Given the description of an element on the screen output the (x, y) to click on. 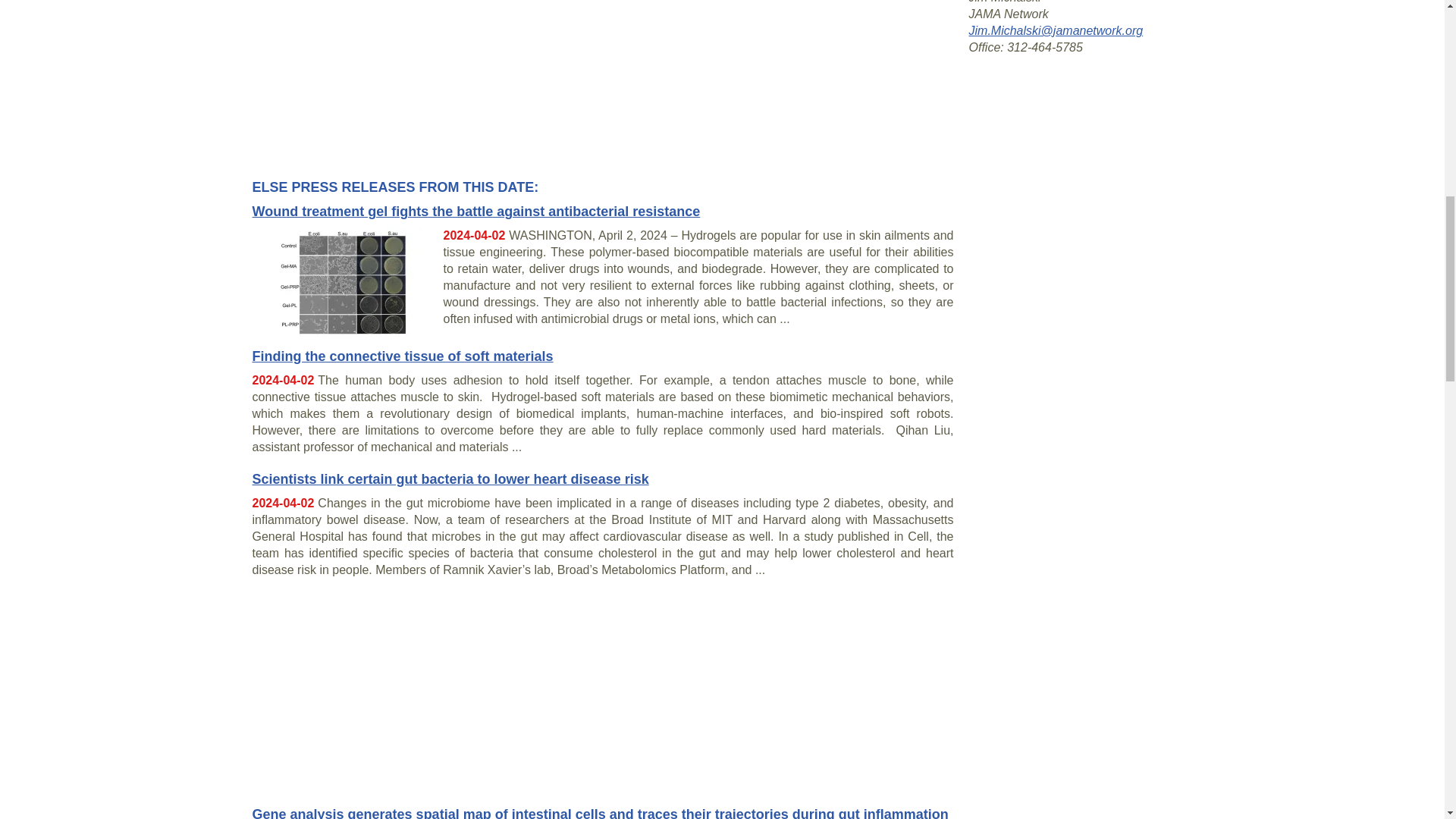
Finding the connective tissue of soft materials (402, 355)
